Given the description of an element on the screen output the (x, y) to click on. 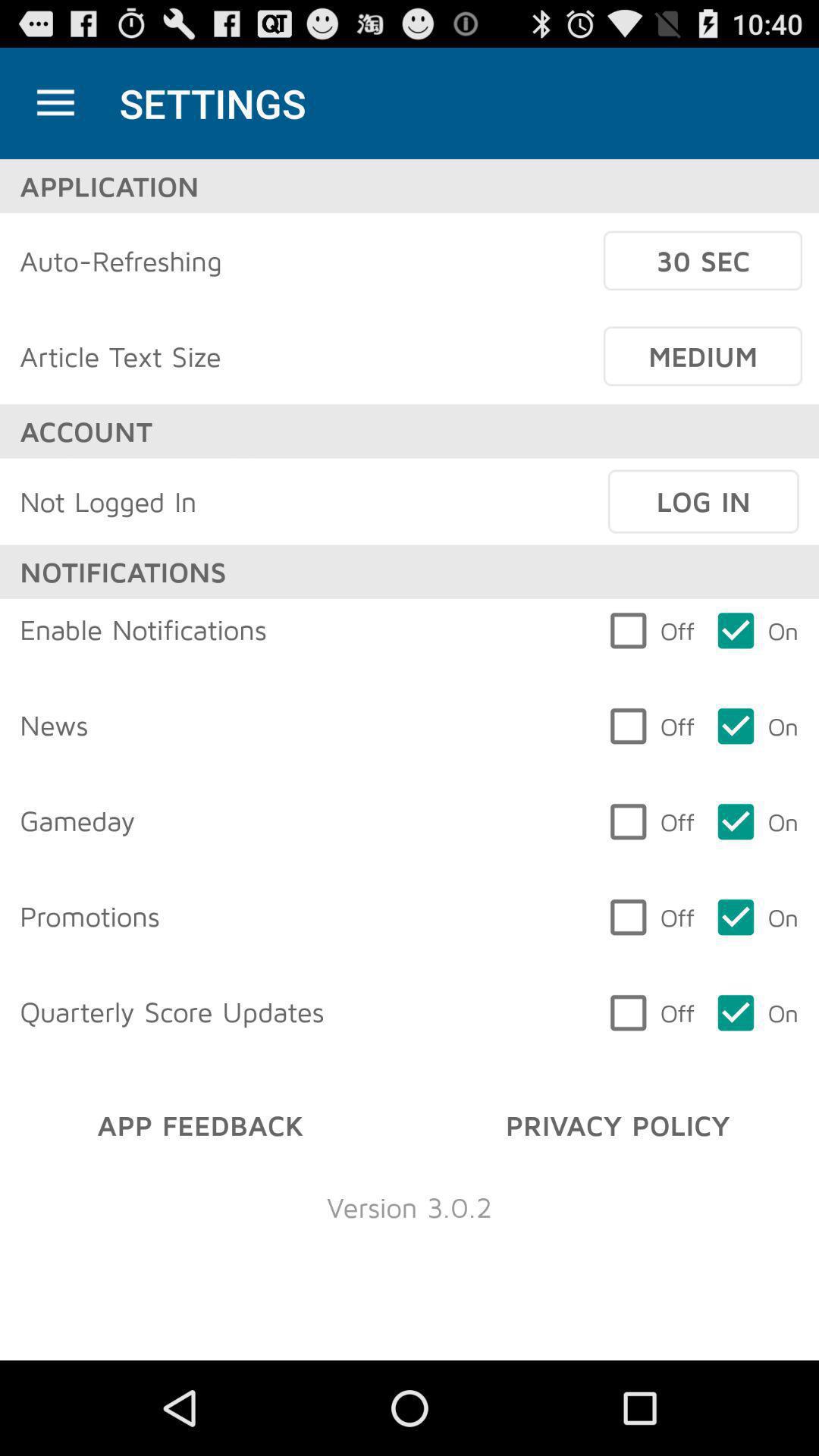
click the icon above application item (55, 103)
